Given the description of an element on the screen output the (x, y) to click on. 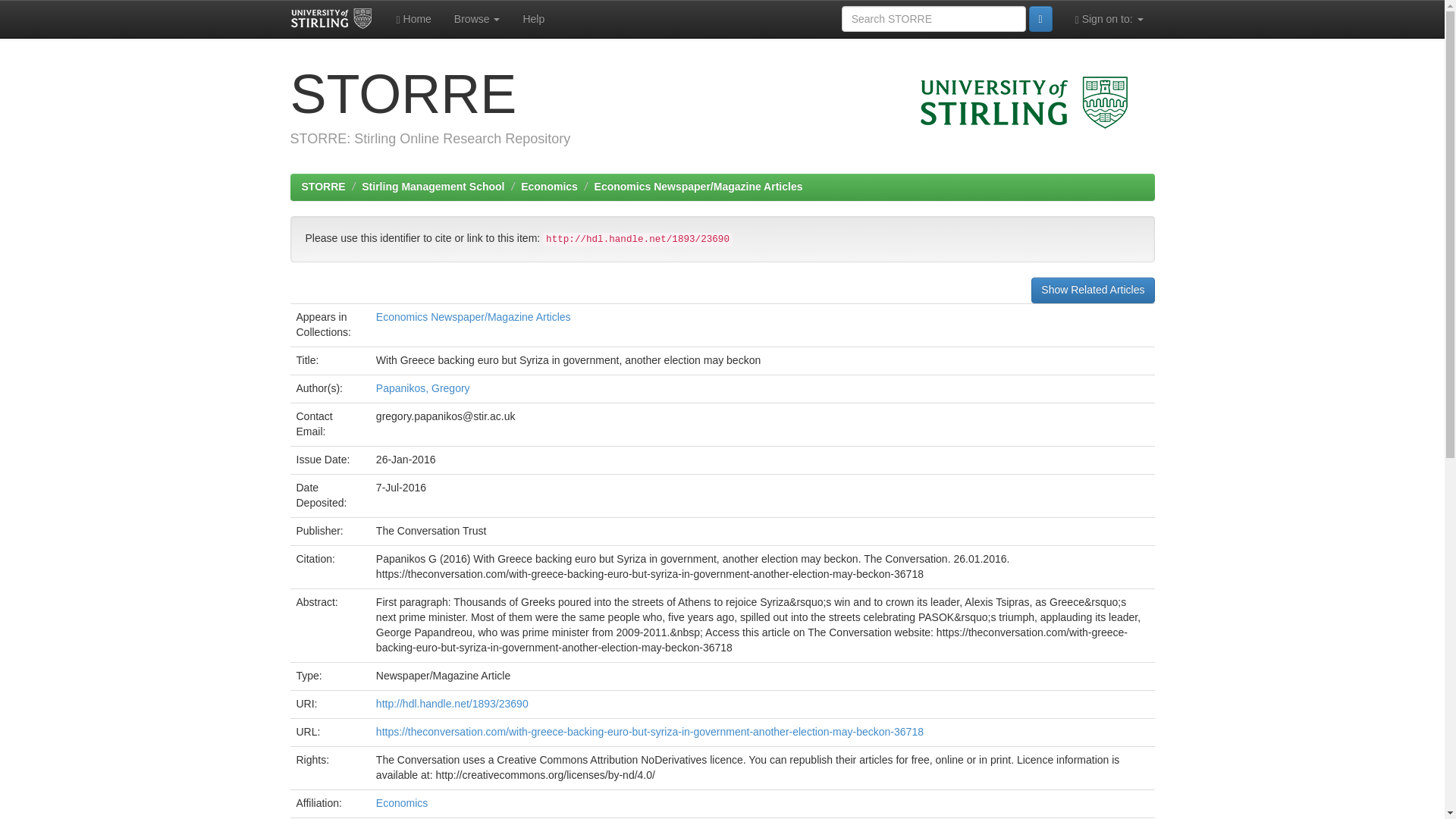
Stirling Management School (432, 186)
Economics (549, 186)
Help (533, 18)
Browse (477, 18)
Home (413, 18)
STORRE (323, 186)
Sign on to: (1109, 18)
